Given the description of an element on the screen output the (x, y) to click on. 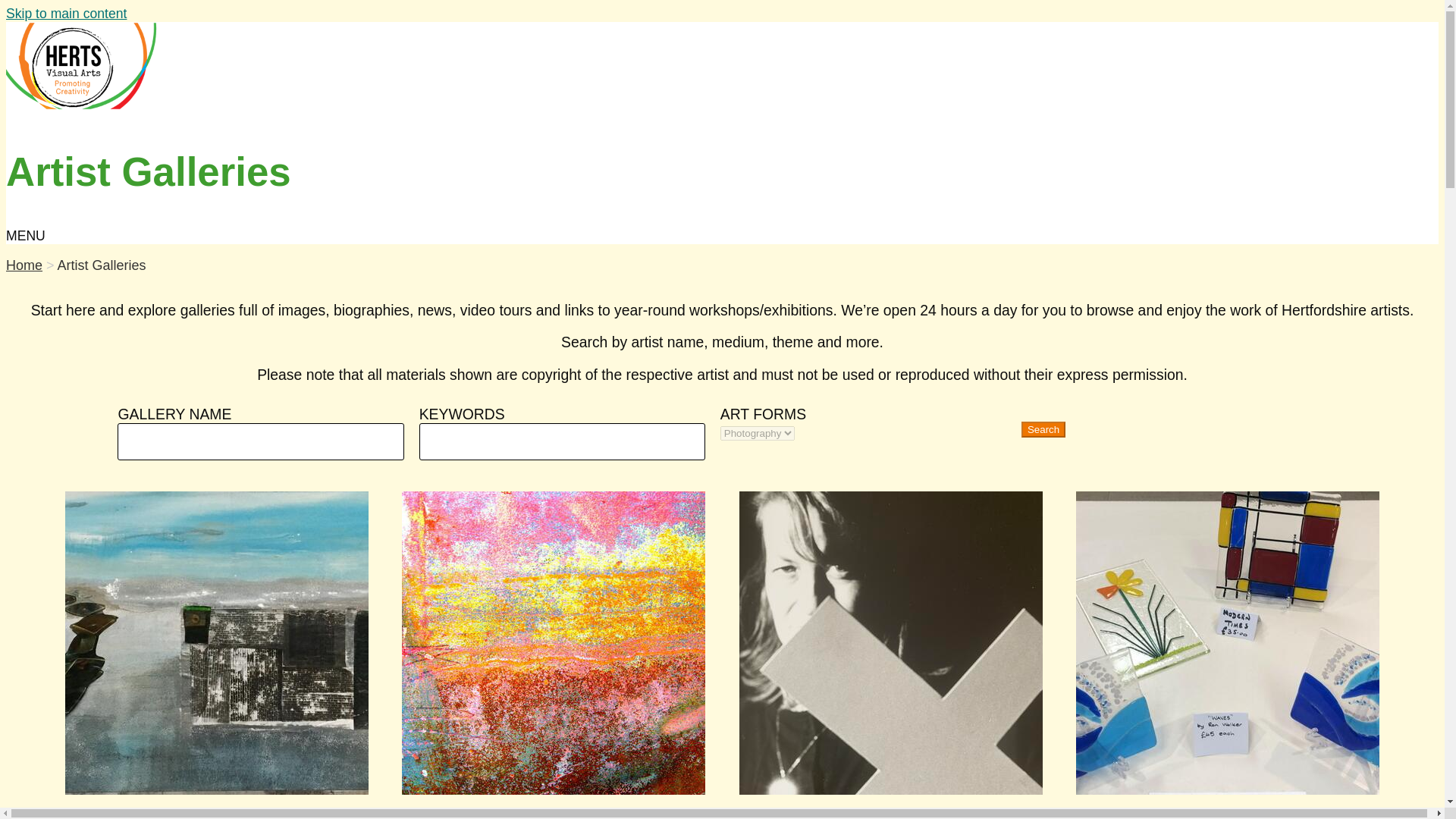
Home (216, 655)
Enter the terms you wish to search for. (81, 106)
Search (552, 655)
Home (1226, 655)
Skip to main content (562, 441)
